Given the description of an element on the screen output the (x, y) to click on. 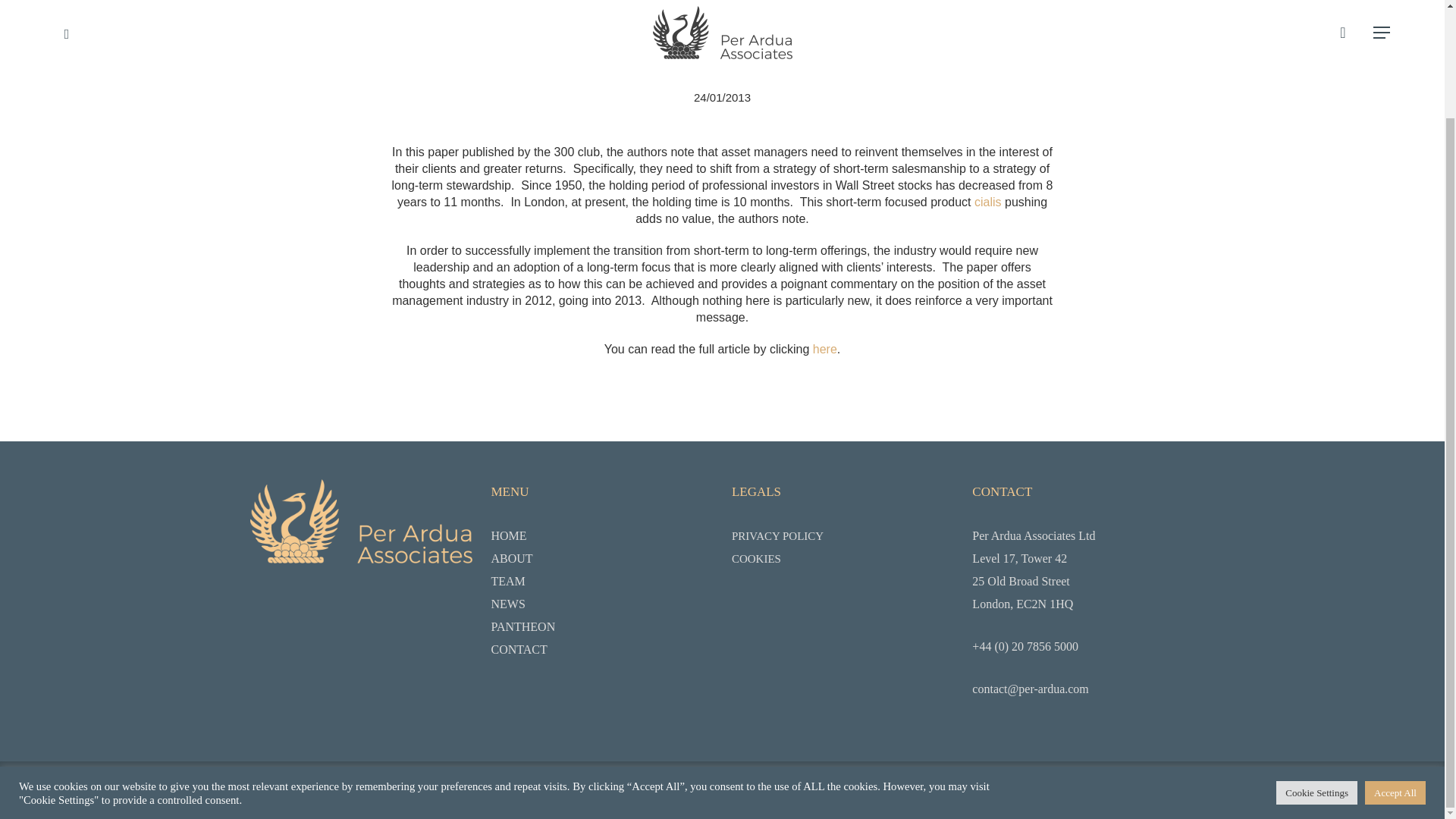
Studio Habgood (788, 782)
cialis (987, 201)
ABOUT (601, 558)
PRIVACY POLICY (842, 535)
Cookie Settings (1316, 665)
NEWS (601, 604)
COOKIES (842, 558)
HOME (601, 535)
PANTHEON (601, 627)
Accept All (1395, 665)
here (824, 349)
TEAM (601, 581)
CONTACT (601, 649)
